Given the description of an element on the screen output the (x, y) to click on. 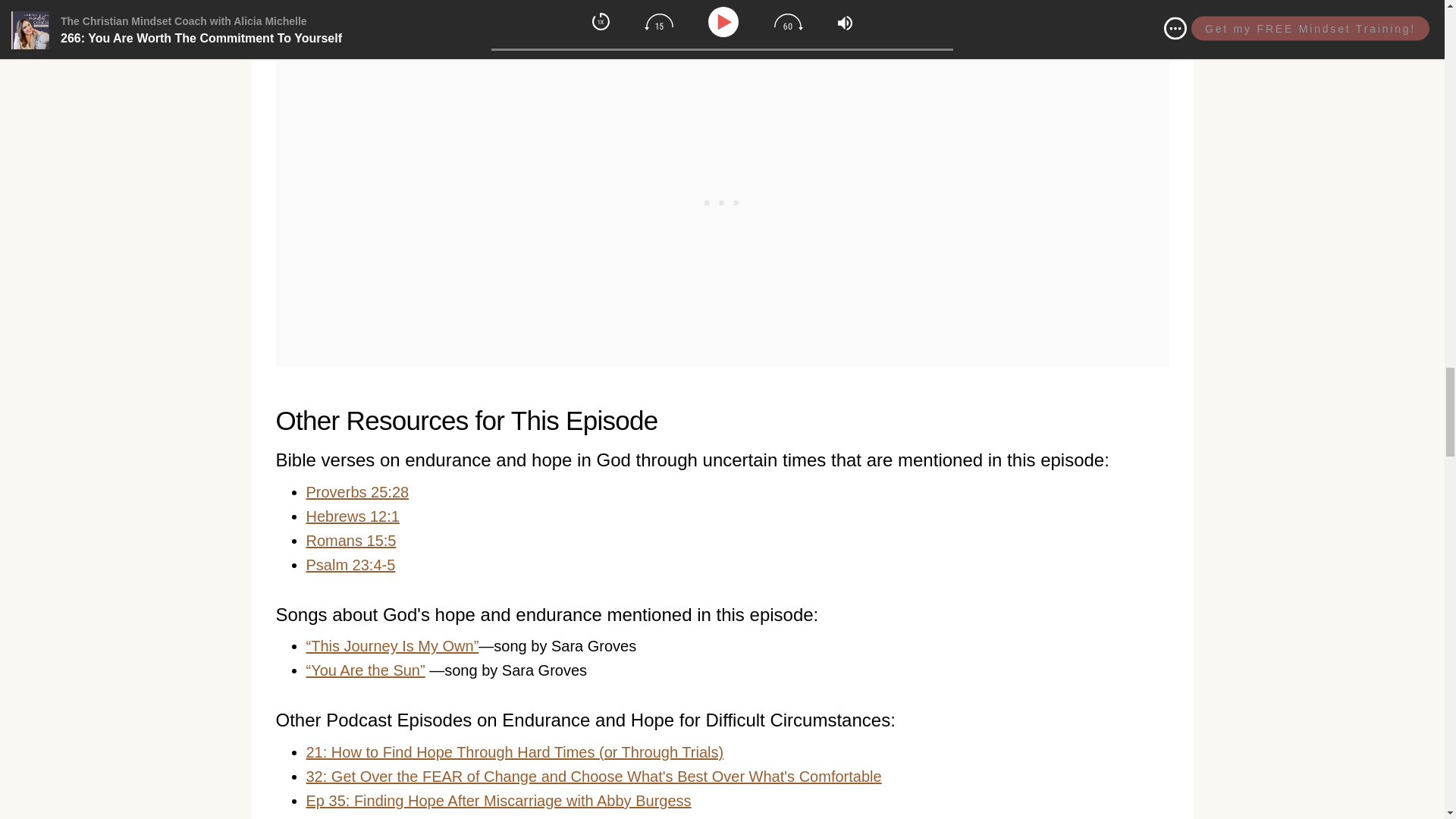
Proverbs 25:28 (357, 492)
